Given the description of an element on the screen output the (x, y) to click on. 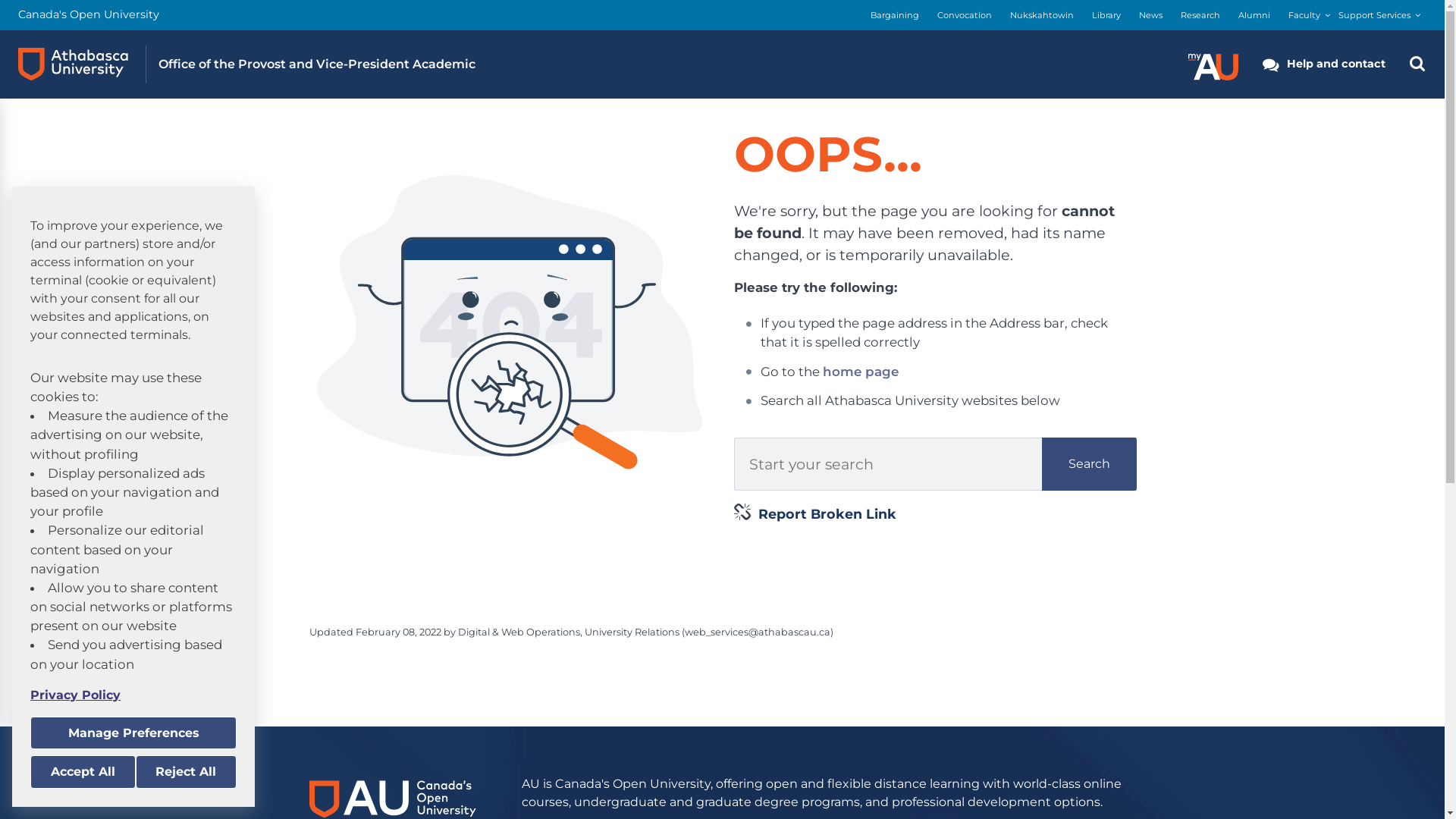
Accept All Element type: text (82, 771)
Search Element type: text (1088, 463)
Research Element type: text (1200, 15)
home page Element type: text (860, 371)
News Element type: text (1150, 15)
Library Element type: text (1106, 15)
Help and contact Element type: text (1323, 64)
Athabasca University logo Element type: text (73, 64)
Privacy Policy Element type: text (133, 695)
Alumni Element type: text (1254, 15)
Support Services Element type: text (1374, 15)
Bargaining Element type: text (894, 15)
Reject All Element type: text (185, 771)
Search the Athabasca University Website Element type: hover (1417, 64)
Faculty Element type: text (1304, 15)
Manage Preferences Element type: text (133, 732)
Nukskahtowin Element type: text (1041, 15)
Convocation Element type: text (964, 15)
